Given the description of an element on the screen output the (x, y) to click on. 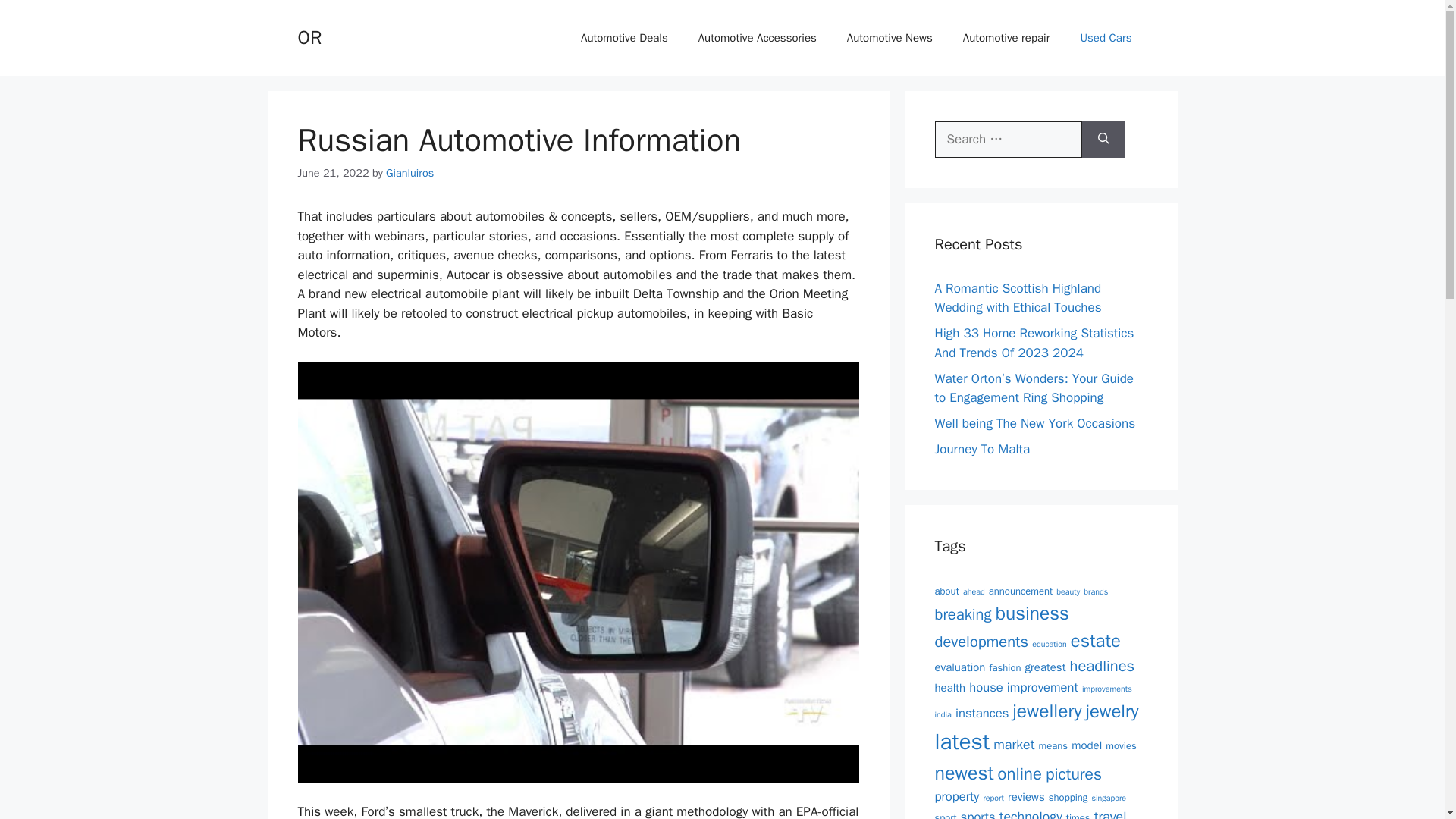
instances (982, 713)
Automotive Deals (624, 37)
house (986, 687)
Used Cars (1105, 37)
ahead (973, 592)
brands (1095, 592)
jewellery (1046, 710)
Journey To Malta (981, 449)
education (1049, 644)
Gianluiros (409, 172)
